Given the description of an element on the screen output the (x, y) to click on. 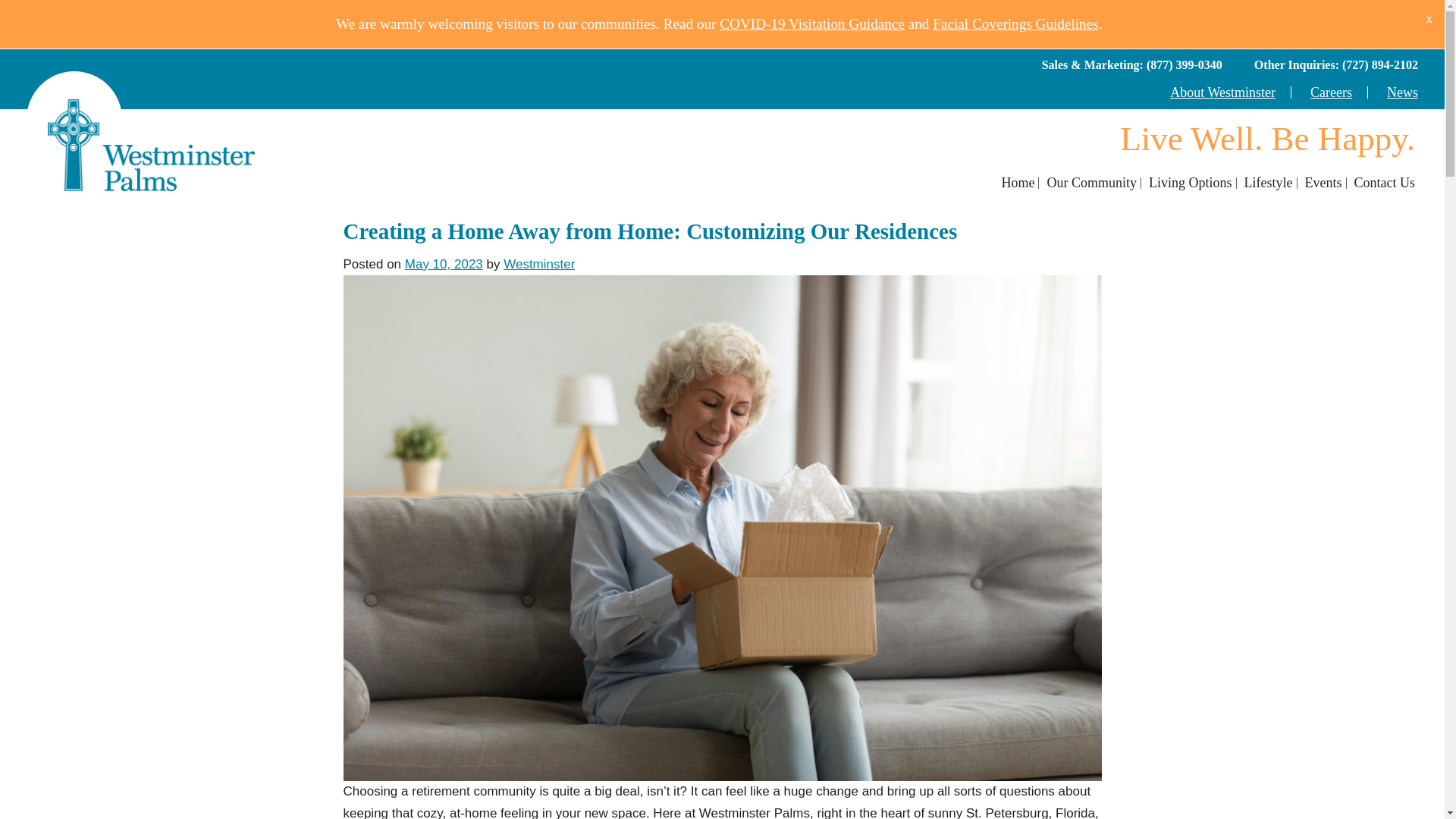
About Westminster (1222, 92)
COVID-19 Visitation Guidance (811, 23)
Careers (1331, 92)
Facial Coverings Guidelines (1015, 23)
News (1402, 92)
Our Community (1091, 183)
Home (1017, 183)
